Given the description of an element on the screen output the (x, y) to click on. 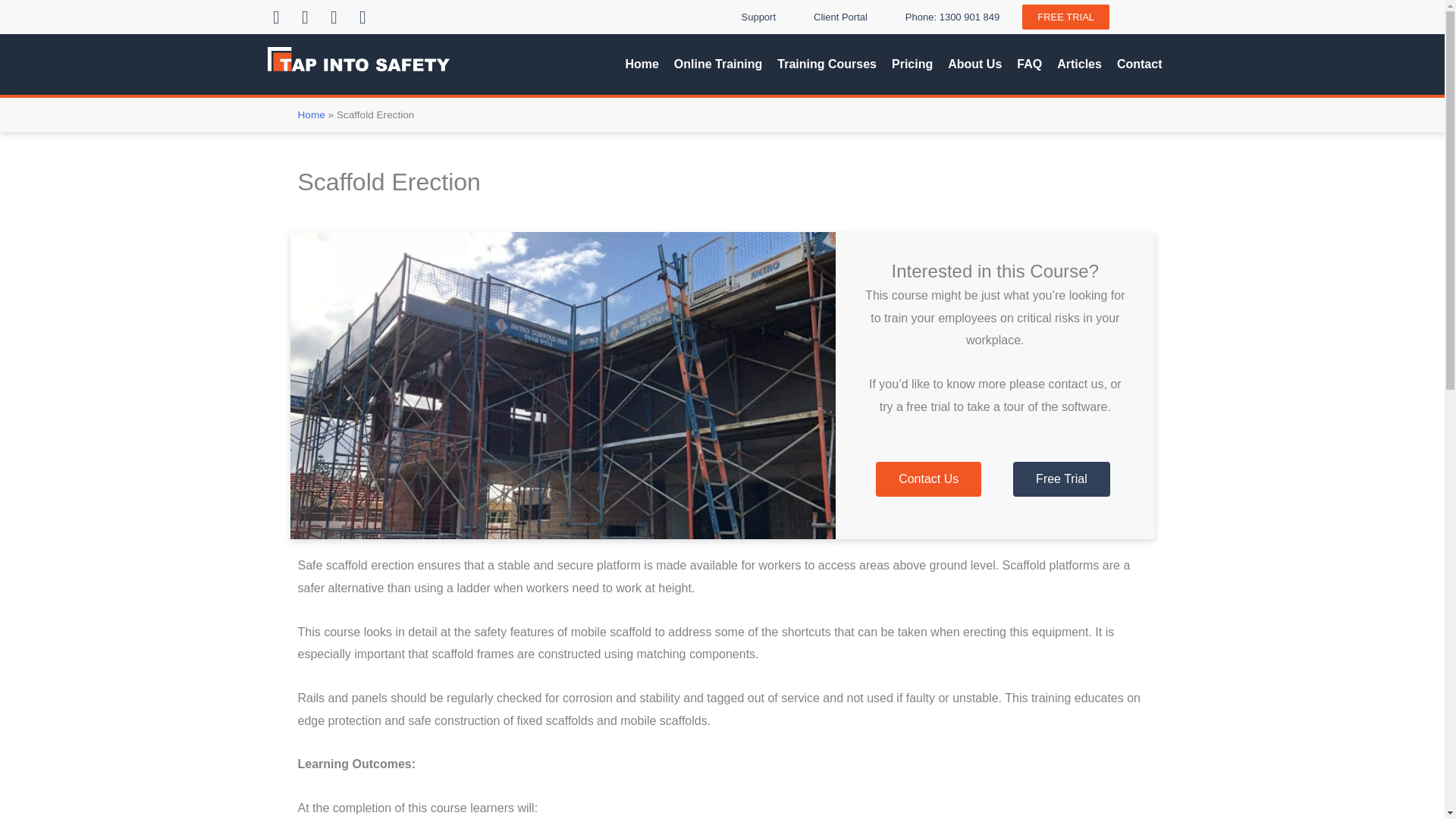
Youtube-square (362, 16)
FREE TRIAL (1065, 16)
Training Courses (826, 64)
Support (759, 16)
Facebook-square (304, 16)
Phone: 1300 901 849 (951, 16)
Twitter-square (333, 16)
Online Training (717, 64)
Client Portal (839, 16)
Linkedin (275, 16)
